Given the description of an element on the screen output the (x, y) to click on. 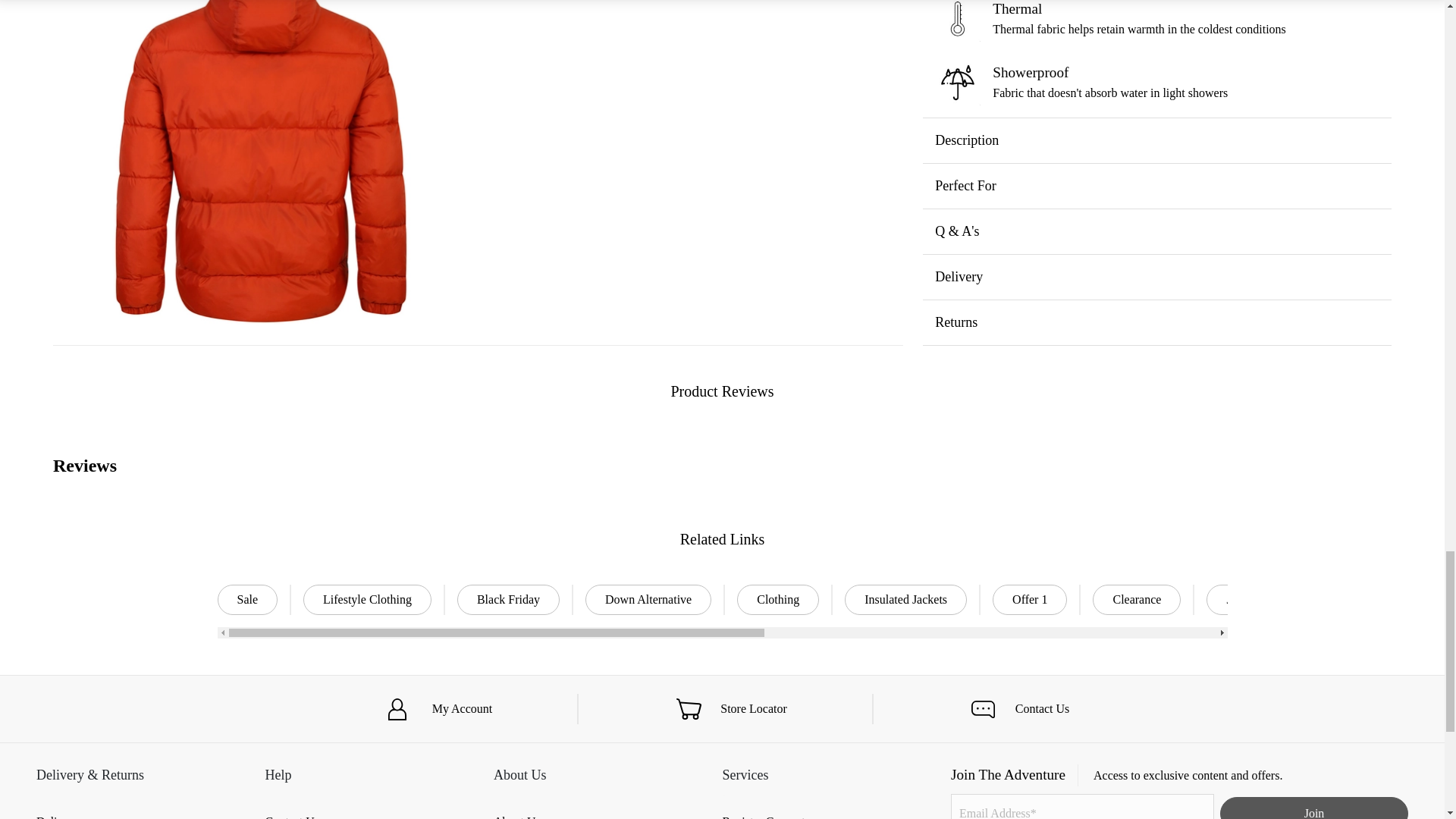
Join (1313, 807)
